Given the description of an element on the screen output the (x, y) to click on. 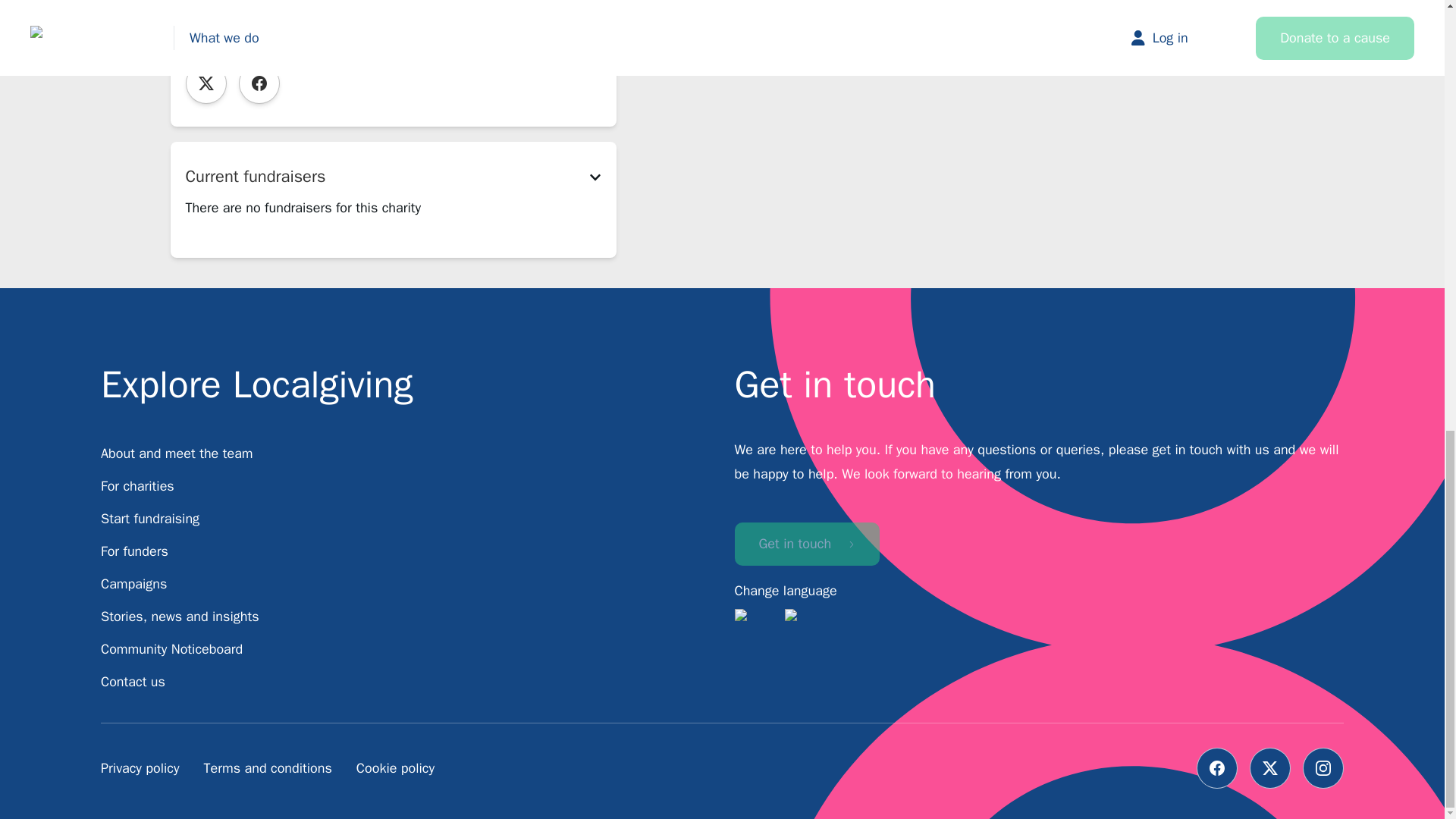
Get in touch (806, 543)
Terms and conditions (267, 767)
Welsh (806, 622)
Campaigns (133, 583)
Privacy policy (139, 767)
Fundraise for us (257, 23)
Get in touch (806, 544)
About and meet the team (176, 453)
Contact us (132, 681)
Stories, news and insights (179, 616)
Community Noticeboard (171, 648)
Start fundraising (149, 518)
For charities (137, 485)
For funders (134, 550)
Current fundraisers (391, 176)
